Given the description of an element on the screen output the (x, y) to click on. 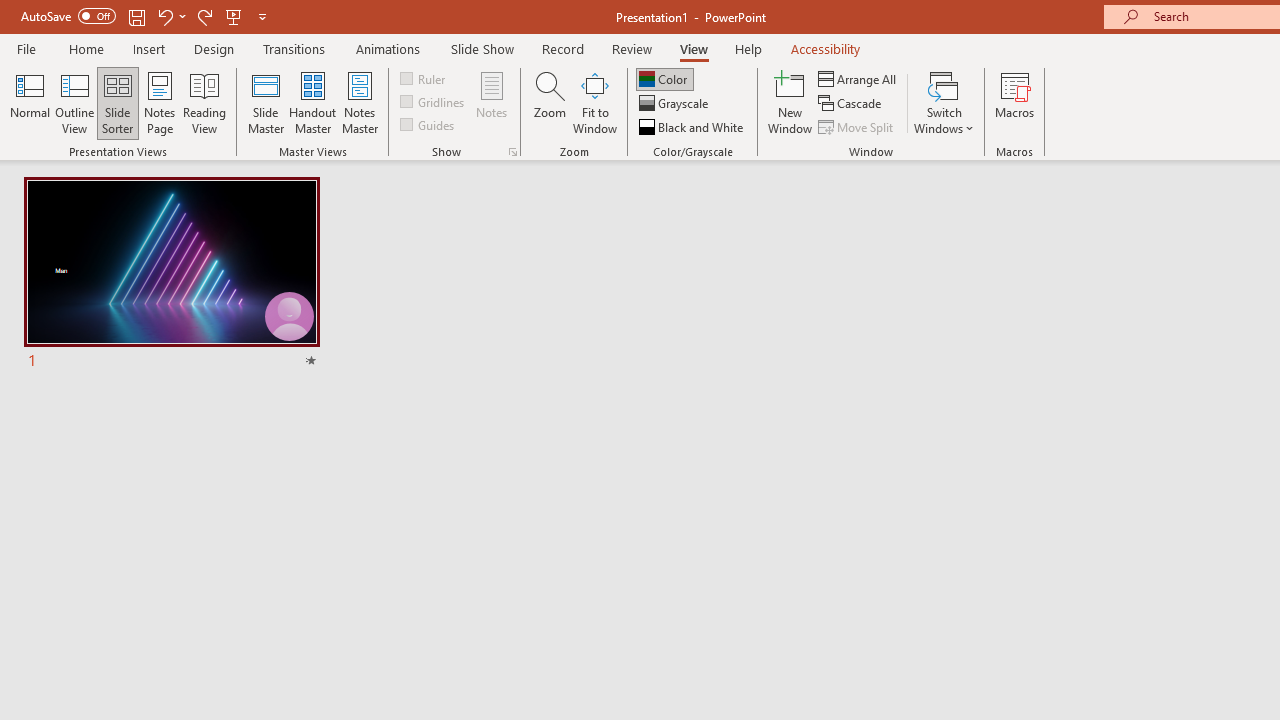
Gridlines (433, 101)
Arrange All (858, 78)
Handout Master (312, 102)
Fit to Window (594, 102)
Color (664, 78)
Grid Settings... (512, 151)
Switch Windows (943, 102)
